Given the description of an element on the screen output the (x, y) to click on. 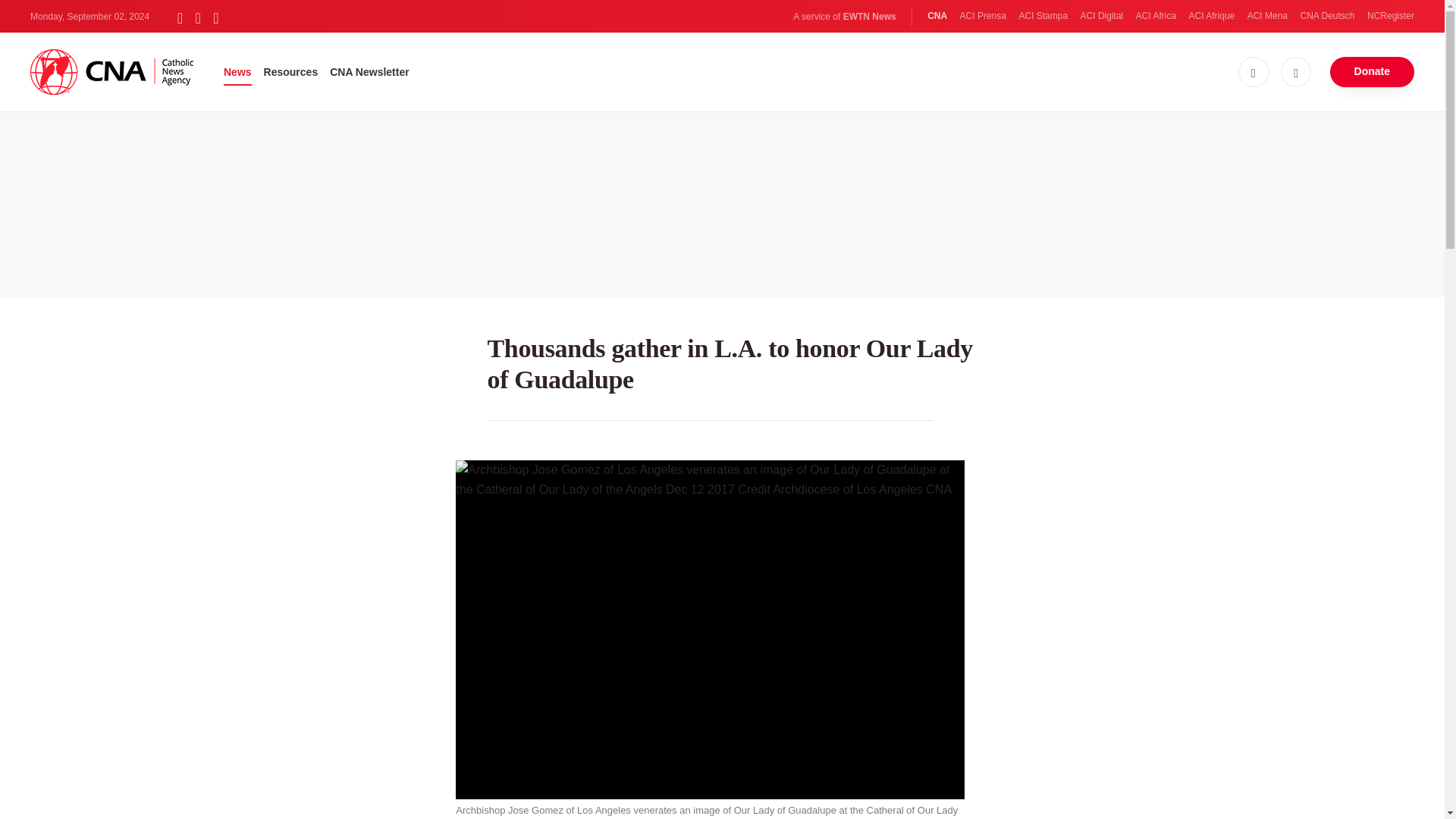
ACI Africa (1155, 16)
EWTN News (869, 16)
CNA (937, 16)
ACI Afrique (1211, 16)
CNA Deutsch (1327, 16)
ACI Stampa (1042, 16)
News (237, 71)
ACI Digital (1102, 16)
Resources (290, 71)
NCRegister (1390, 16)
